Given the description of an element on the screen output the (x, y) to click on. 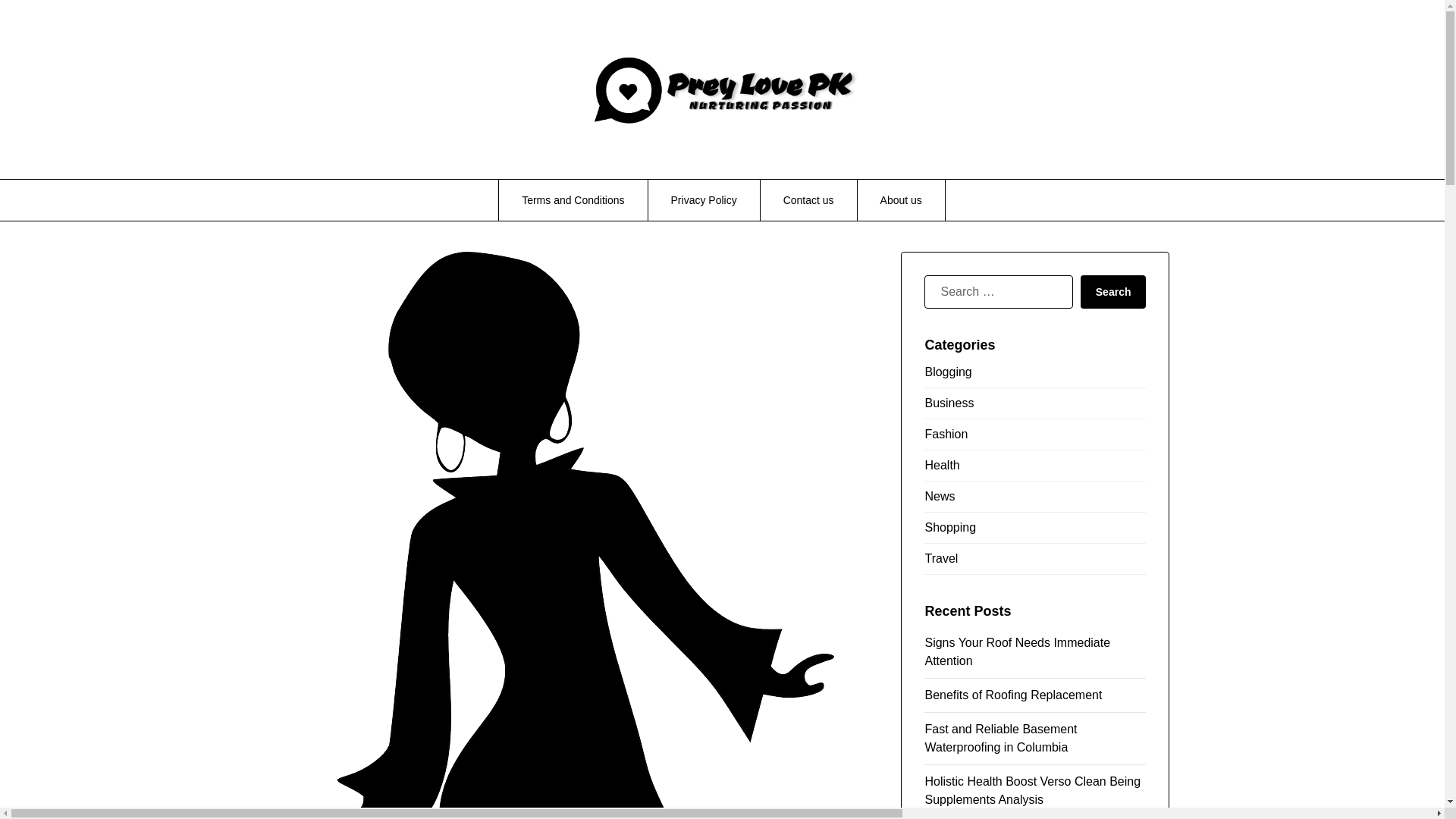
Fast and Reliable Basement Waterproofing in Columbia (1000, 737)
Search (1113, 291)
Health (1034, 465)
Fashion (1034, 434)
Search (1113, 291)
Search (1113, 291)
Benefits of Roofing Replacement (1013, 694)
Blogging (1034, 375)
Travel (1034, 558)
Terms and Conditions (572, 199)
Signs Your Roof Needs Immediate Attention (1016, 651)
Shopping (1034, 527)
Privacy Policy (703, 199)
Holistic Health Boost Verso Clean Being Supplements Analysis (1032, 789)
Business (1034, 403)
